Given the description of an element on the screen output the (x, y) to click on. 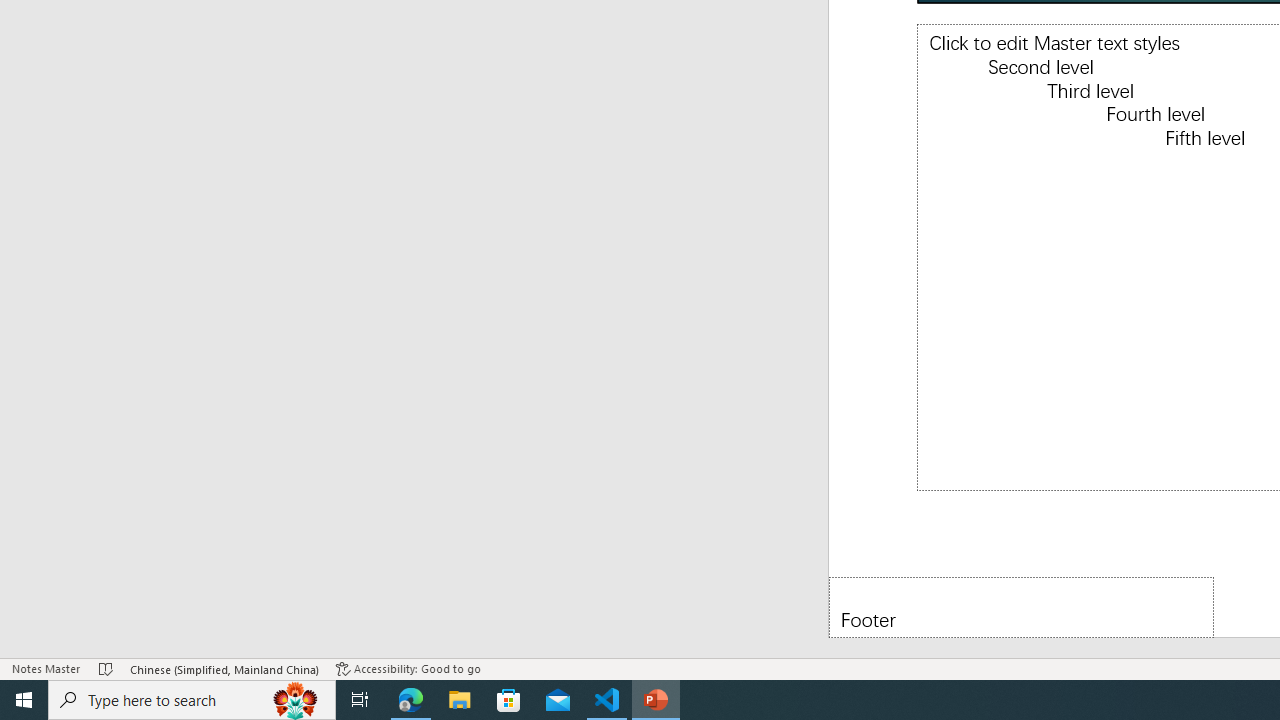
Footer (1021, 606)
